Given the description of an element on the screen output the (x, y) to click on. 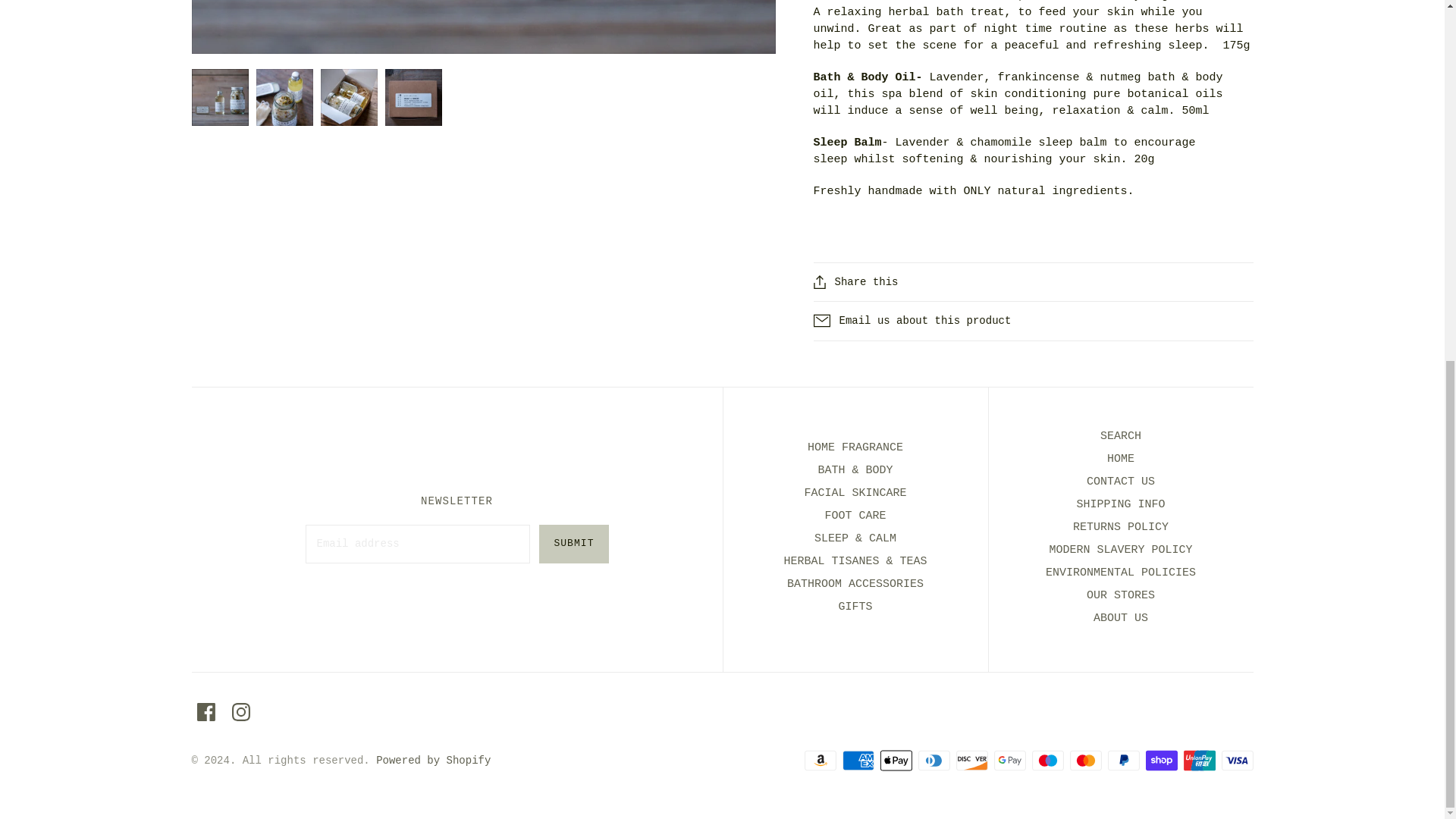
Mastercard (1084, 760)
Shop Pay (1160, 760)
Amazon (819, 760)
Google Pay (1008, 760)
Discover (971, 760)
Diners Club (933, 760)
American Express (857, 760)
Visa (1236, 760)
Maestro (1046, 760)
Apple Pay (895, 760)
PayPal (1122, 760)
Union Pay (1198, 760)
